Given the description of an element on the screen output the (x, y) to click on. 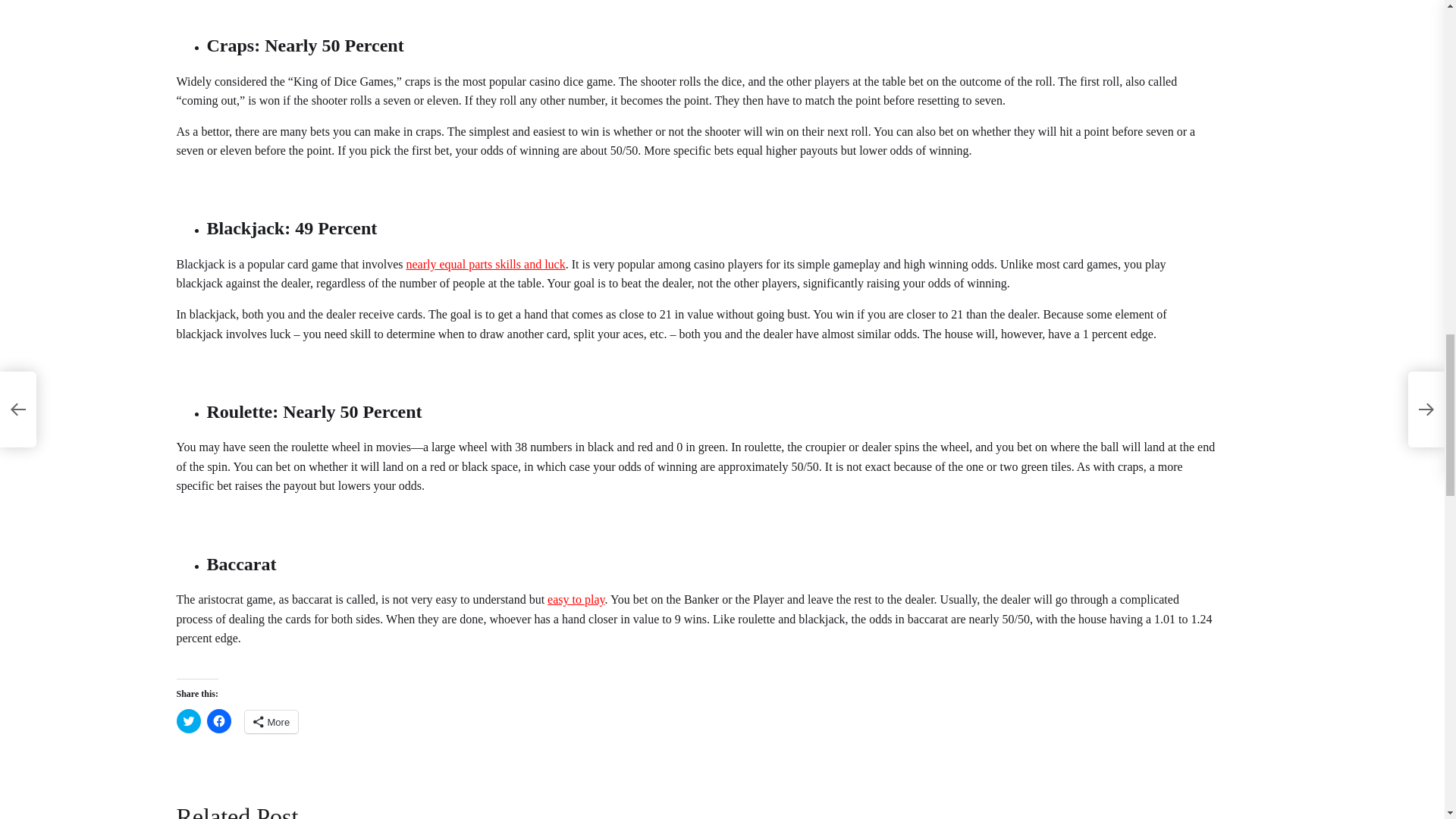
Click to share on Twitter (188, 721)
Click to share on Facebook (218, 721)
